Given the description of an element on the screen output the (x, y) to click on. 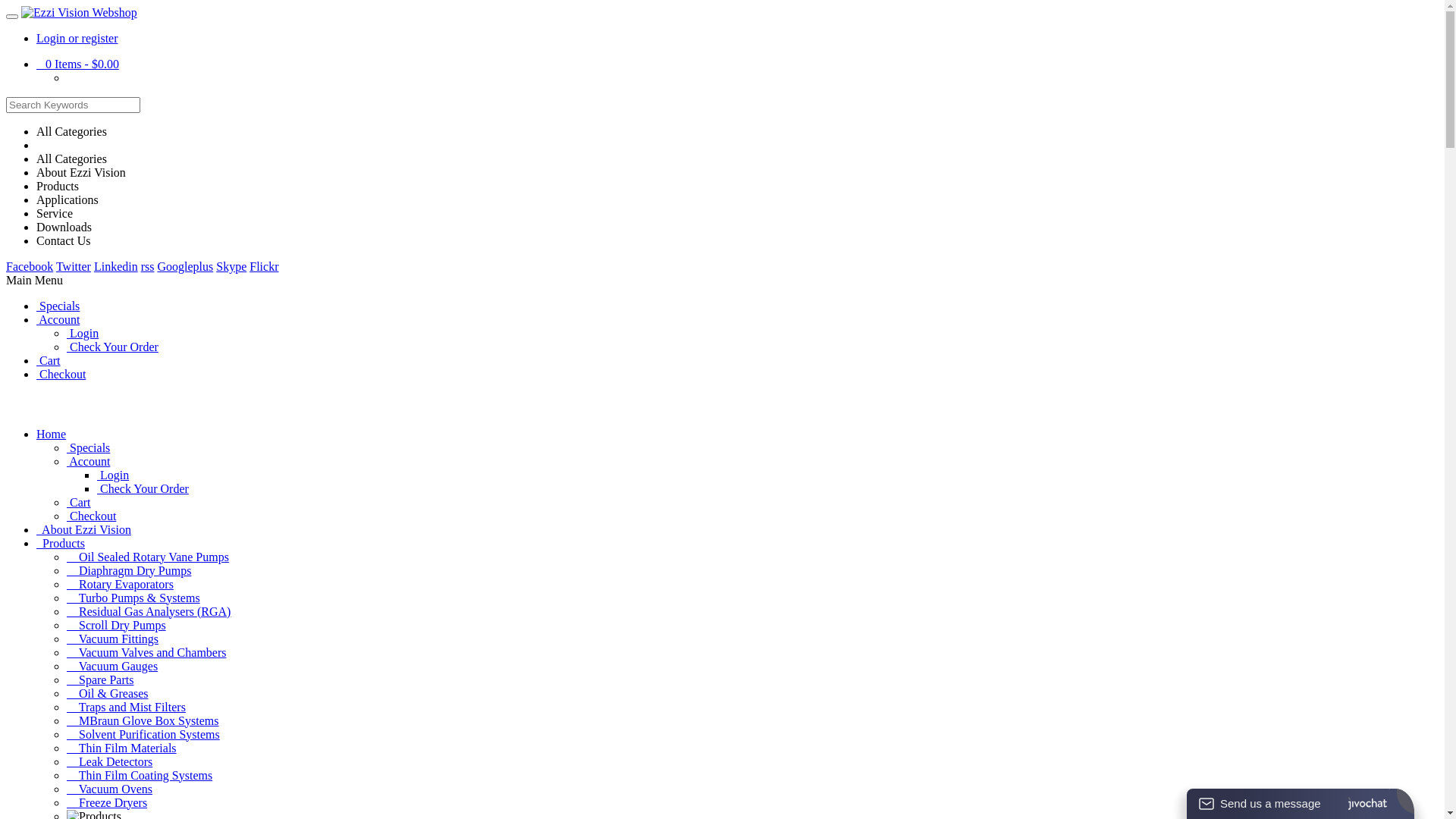
    Oil Sealed Rotary Vane Pumps Element type: text (147, 556)
 Specials Element type: text (57, 305)
 Check Your Order Element type: text (112, 346)
    Vacuum Gauges Element type: text (111, 665)
    Vacuum Valves and Chambers Element type: text (145, 652)
Products Element type: text (57, 185)
    Leak Detectors Element type: text (109, 761)
Service Element type: text (54, 213)
 Checkout Element type: text (60, 373)
    Scroll Dry Pumps Element type: text (116, 624)
rss Element type: text (147, 266)
 Login Element type: text (82, 332)
  Products Element type: text (60, 542)
    Vacuum Ovens Element type: text (109, 788)
Applications Element type: text (67, 199)
    Traps and Mist Filters Element type: text (125, 706)
    Diaphragm Dry Pumps Element type: text (128, 570)
Linkedin Element type: text (116, 266)
 Check Your Order Element type: text (142, 488)
    Oil & Greases Element type: text (107, 693)
All Categories Element type: text (71, 131)
 Account Element type: text (57, 319)
   0 Items - $0.00 Element type: text (77, 63)
Downloads Element type: text (63, 226)
    Freeze Dryers Element type: text (106, 802)
    MBraun Glove Box Systems Element type: text (142, 720)
Googleplus Element type: text (184, 266)
    Rotary Evaporators Element type: text (119, 583)
Facebook Element type: text (29, 266)
 Specials Element type: text (87, 447)
 Cart Element type: text (78, 501)
About Ezzi Vision Element type: text (80, 172)
    Solvent Purification Systems Element type: text (142, 734)
 Account Element type: text (87, 461)
    Thin Film Materials Element type: text (121, 747)
All Categories Element type: text (71, 158)
Ezzi Vision Webshop Element type: hover (79, 12)
Twitter Element type: text (73, 266)
    Residual Gas Analysers (RGA) Element type: text (148, 611)
Home Element type: text (50, 433)
 Checkout Element type: text (91, 515)
Login or register Element type: text (77, 37)
  About Ezzi Vision Element type: text (83, 529)
    Spare Parts Element type: text (99, 679)
 Cart Element type: text (48, 360)
Skype Element type: text (231, 266)
Flickr Element type: text (263, 266)
    Vacuum Fittings Element type: text (112, 638)
    Turbo Pumps & Systems Element type: text (133, 597)
Contact Us Element type: text (63, 240)
    Thin Film Coating Systems Element type: text (139, 774)
 Login Element type: text (112, 474)
